Given the description of an element on the screen output the (x, y) to click on. 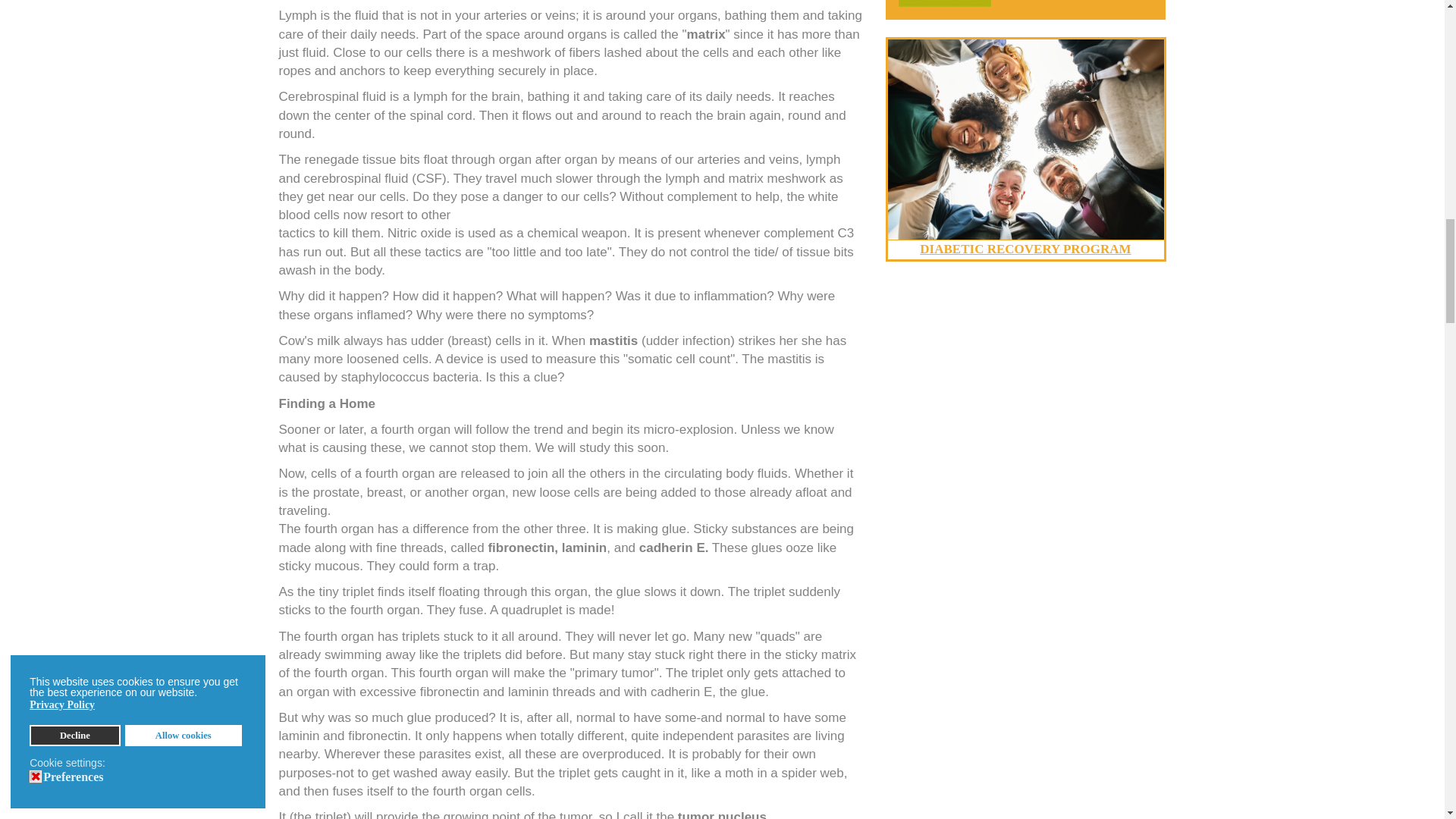
DIABETIC RECOVERY PROGRAM (1025, 248)
